Given the description of an element on the screen output the (x, y) to click on. 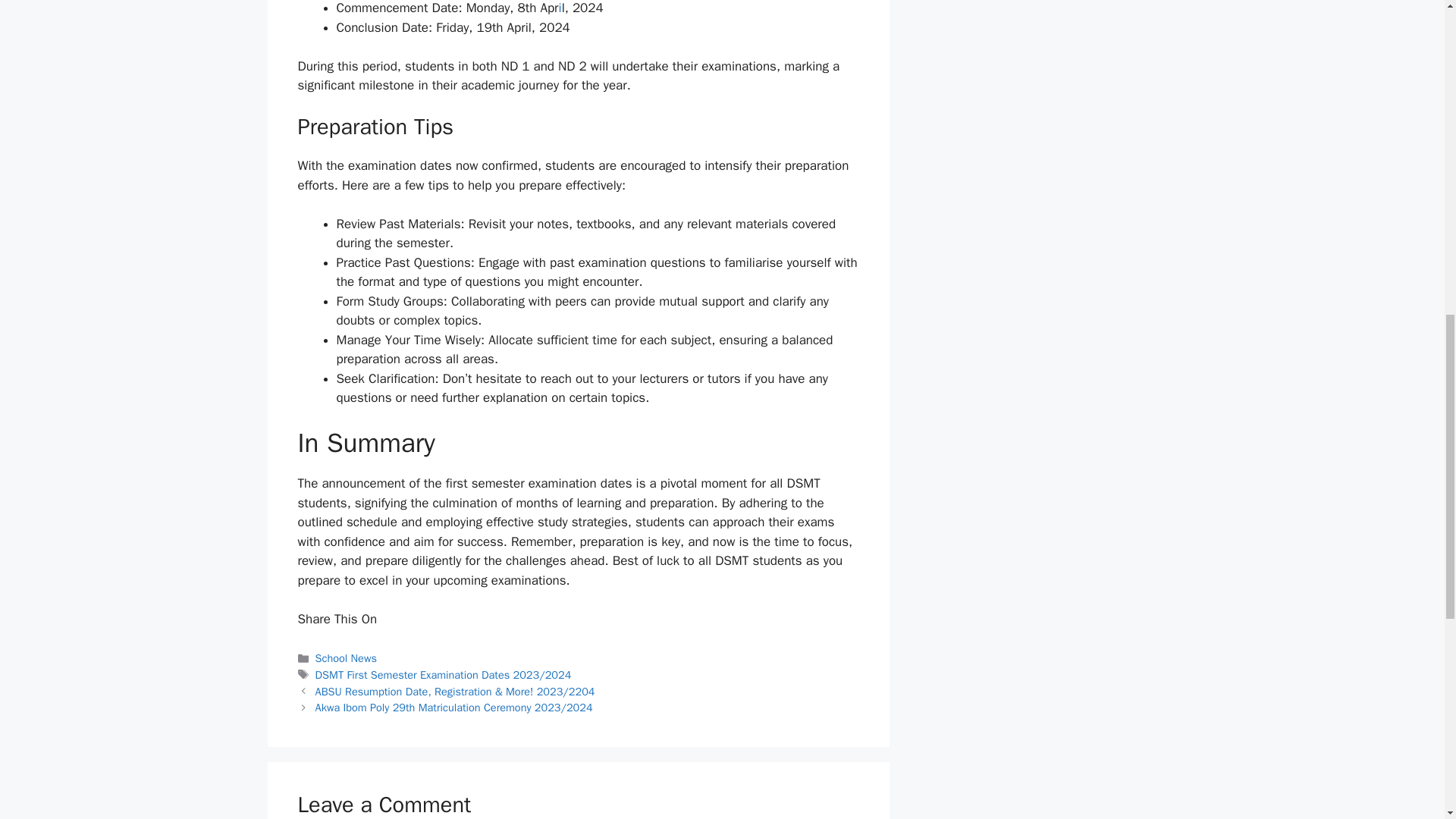
i (560, 7)
School News (346, 658)
